Given the description of an element on the screen output the (x, y) to click on. 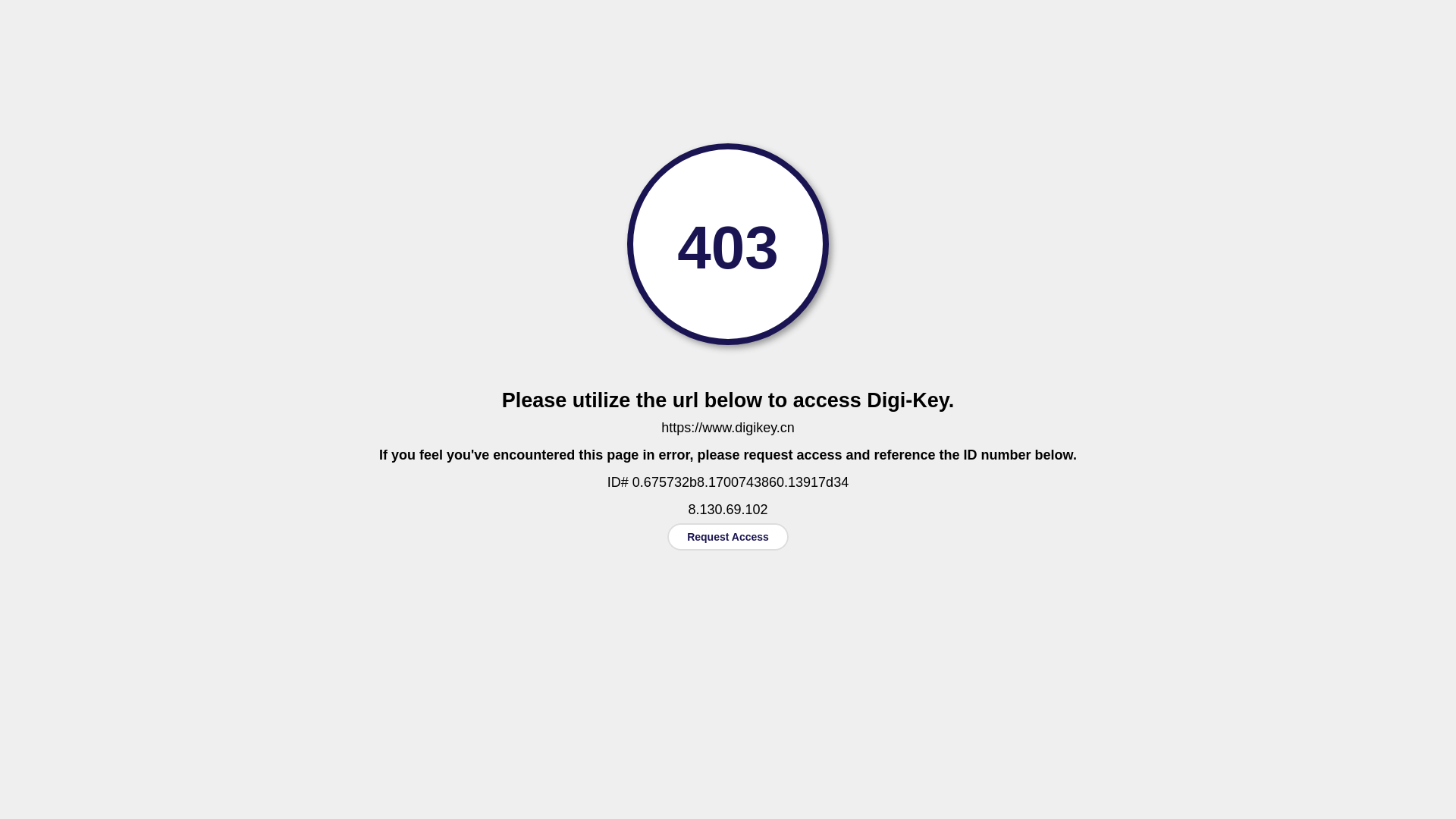
Request Access Element type: text (727, 536)
